Given the description of an element on the screen output the (x, y) to click on. 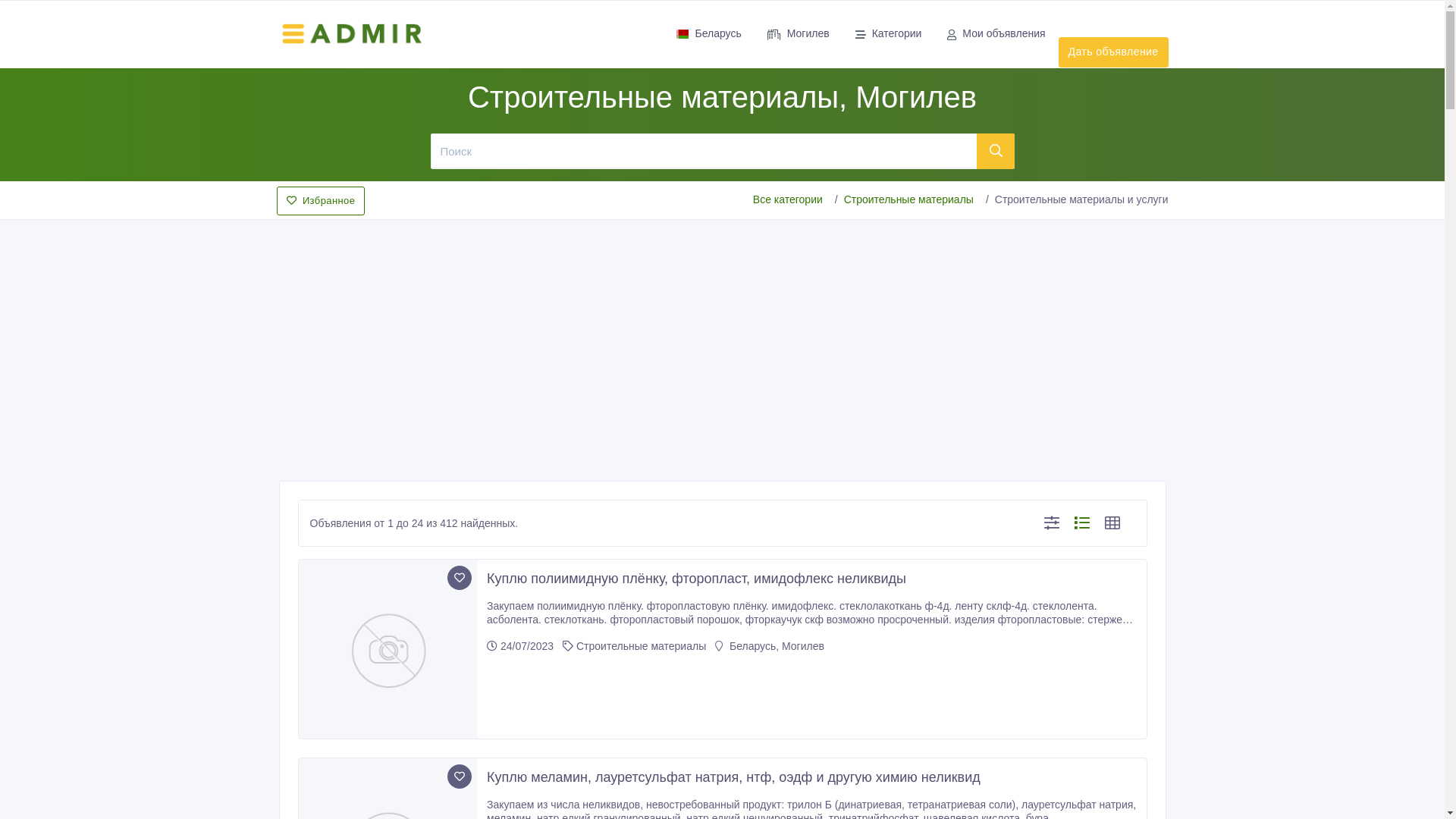
Add to favorite Element type: hover (459, 776)
Add to favorite Element type: hover (459, 577)
Advertisement Element type: hover (721, 338)
